Given the description of an element on the screen output the (x, y) to click on. 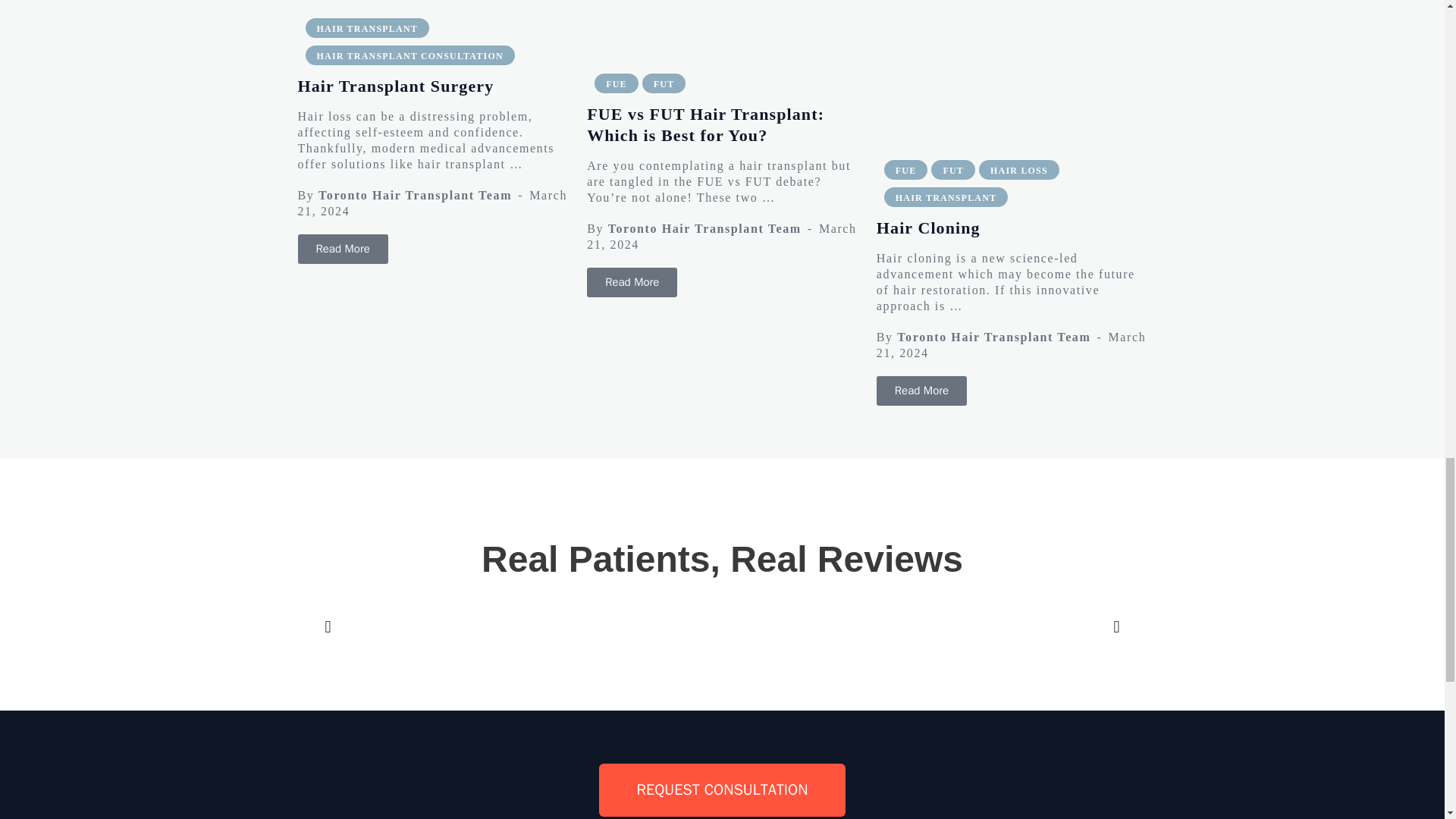
Hair Cloning (921, 390)
Hair Transplant Surgery (342, 248)
Hair Cloning (1011, 70)
FUE vs FUT Hair Transplant: Which is Best for You? (721, 27)
FUE vs FUT Hair Transplant: Which is Best for You? (631, 282)
